Given the description of an element on the screen output the (x, y) to click on. 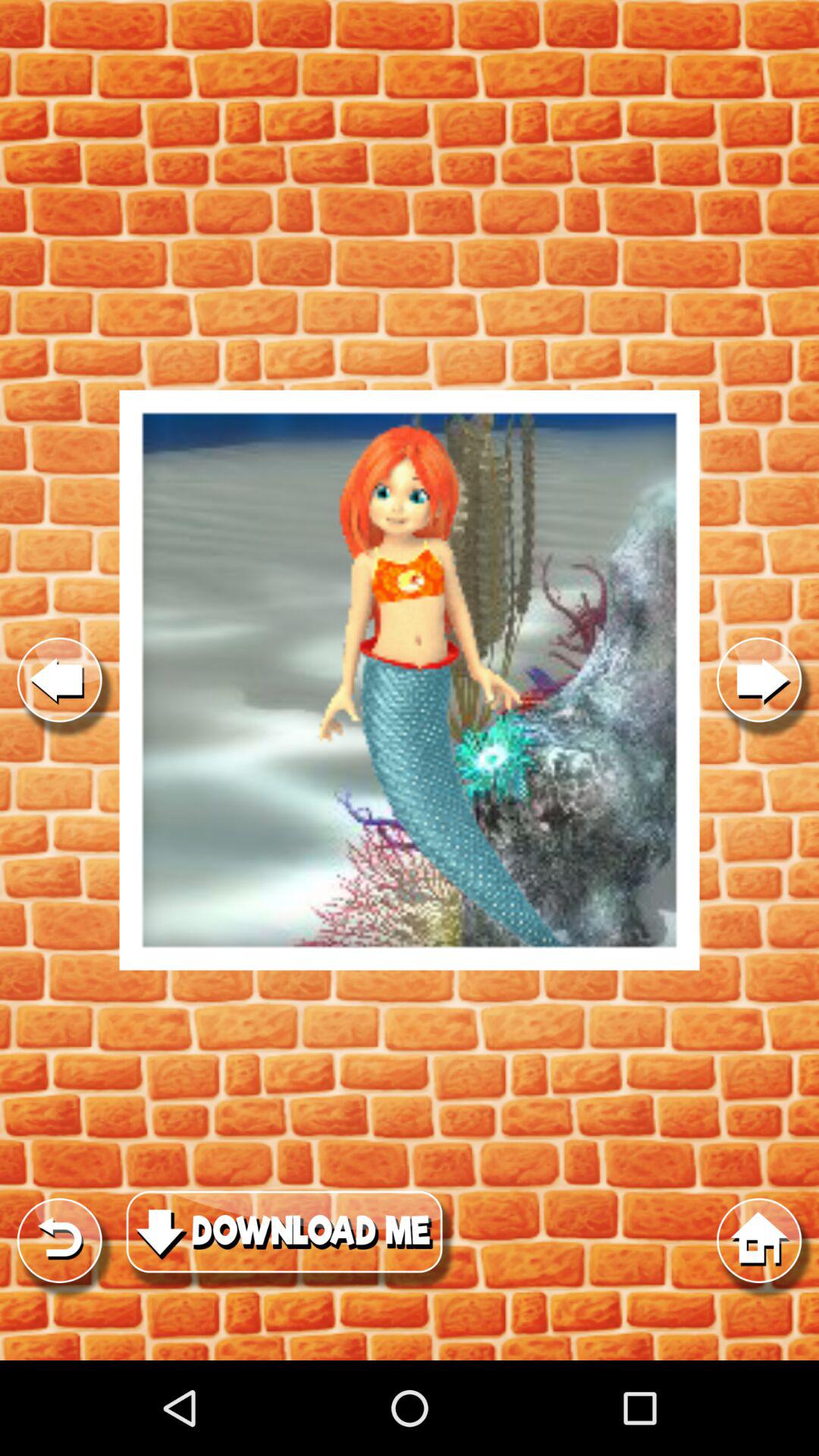
go to download (291, 1240)
